Given the description of an element on the screen output the (x, y) to click on. 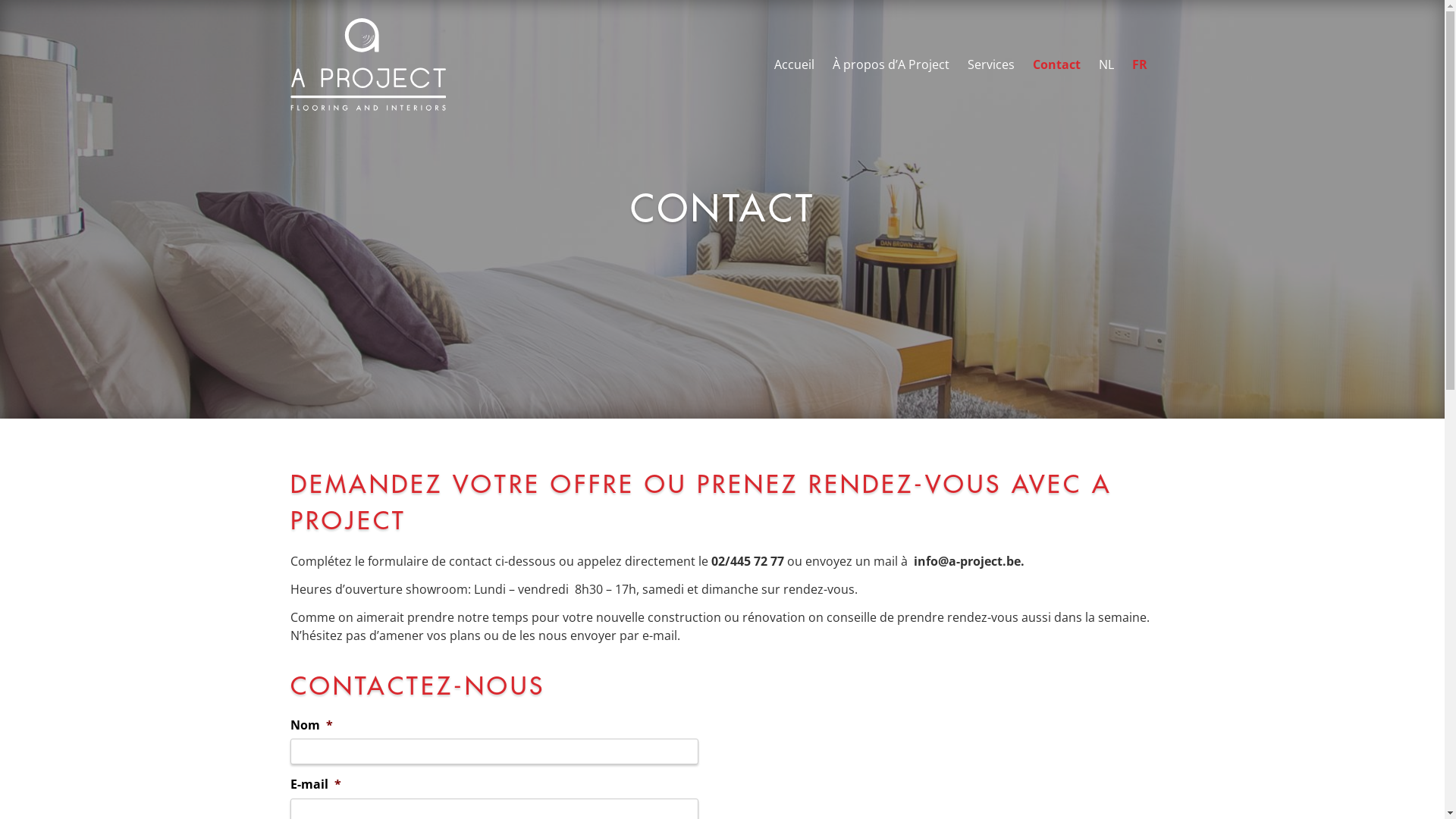
Contact Element type: text (1056, 64)
FR Element type: text (1138, 64)
02/445 72 77 Element type: text (747, 560)
Services Element type: text (990, 64)
Accueil Element type: text (793, 64)
info@a-project.be Element type: text (966, 560)
NL Element type: text (1105, 64)
